Given the description of an element on the screen output the (x, y) to click on. 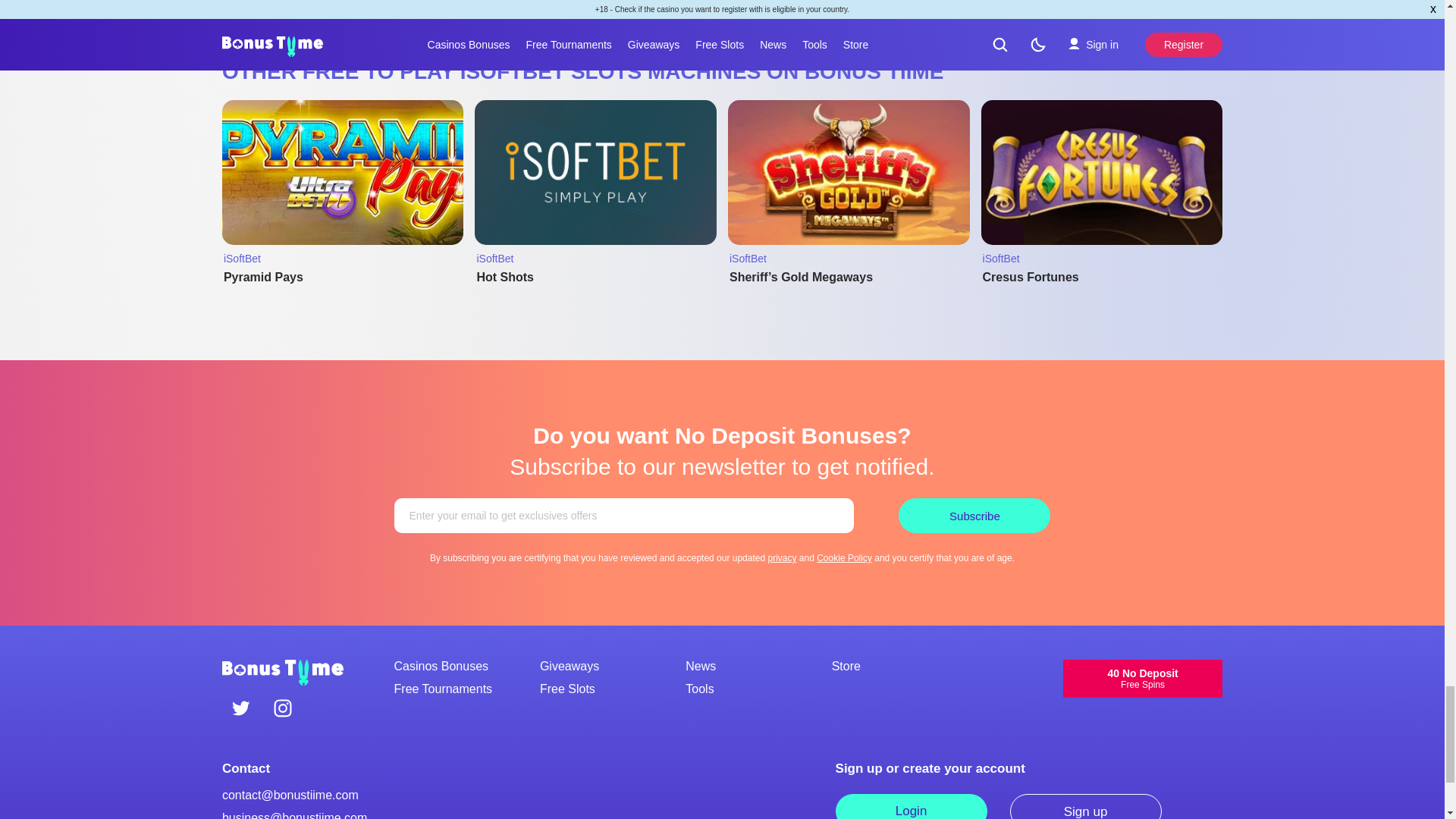
Instagram (282, 709)
Subscribe (973, 515)
Twitter (241, 709)
